Given the description of an element on the screen output the (x, y) to click on. 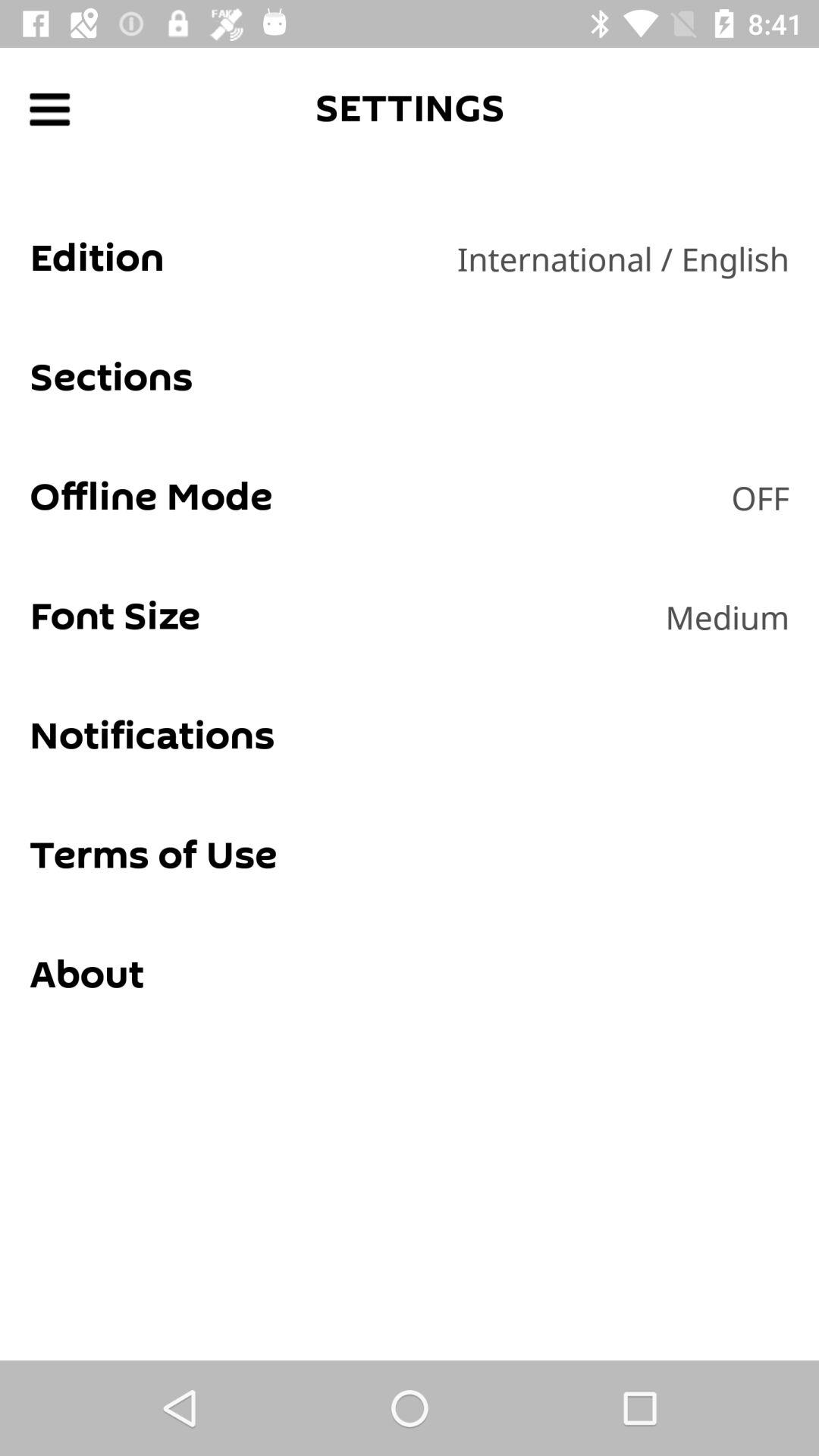
go to menu options (49, 109)
